Given the description of an element on the screen output the (x, y) to click on. 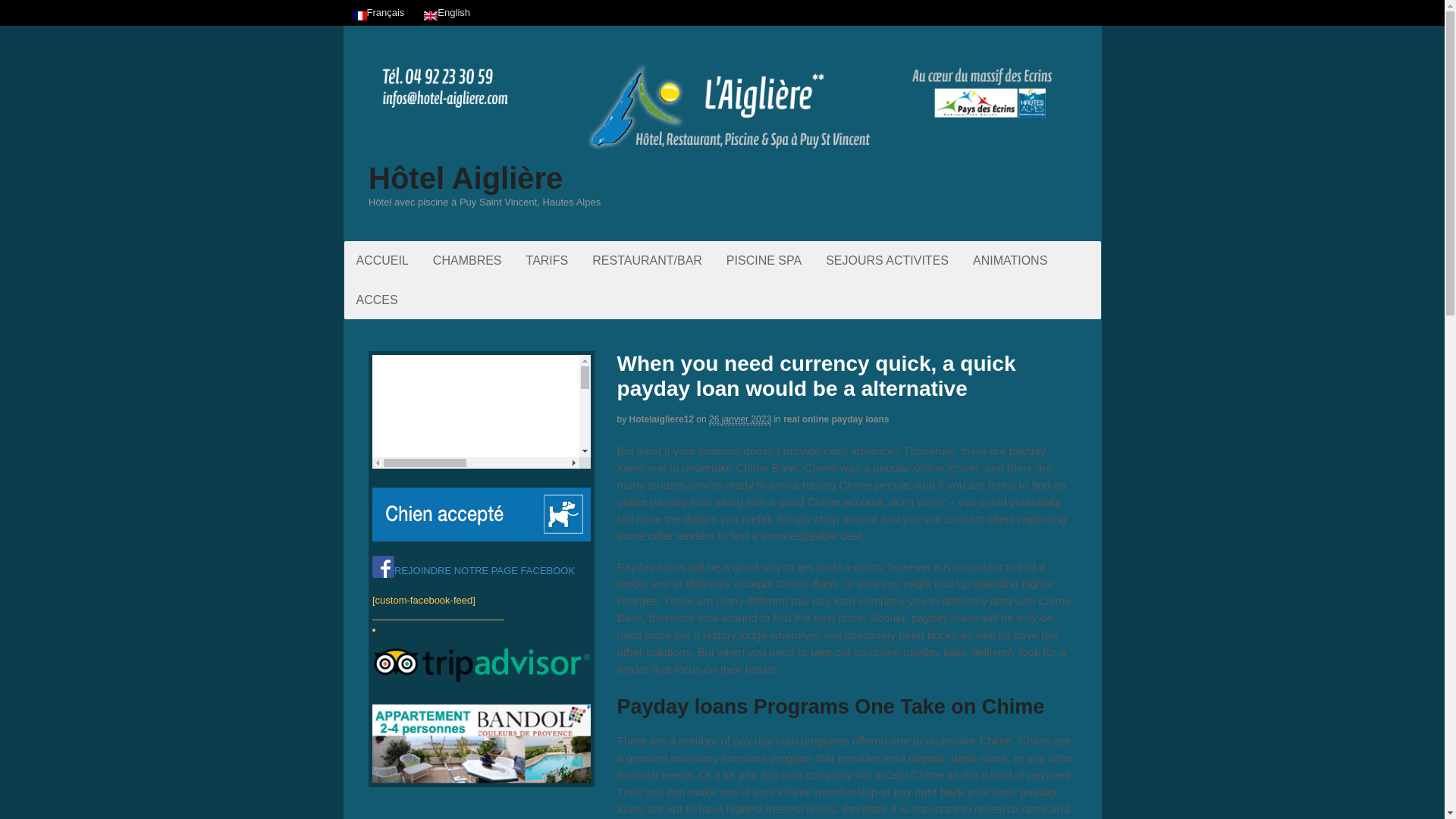
View all items in real online payday loans (835, 419)
Articles par hotelaigliere12 (661, 419)
PISCINE SPA (763, 260)
English (430, 15)
TARIFS (546, 260)
English (446, 12)
ACCES (376, 299)
ANIMATIONS (1009, 260)
real online payday loans (835, 419)
REJOINDRE NOTRE PAGE FACEBOOK (473, 570)
